Given the description of an element on the screen output the (x, y) to click on. 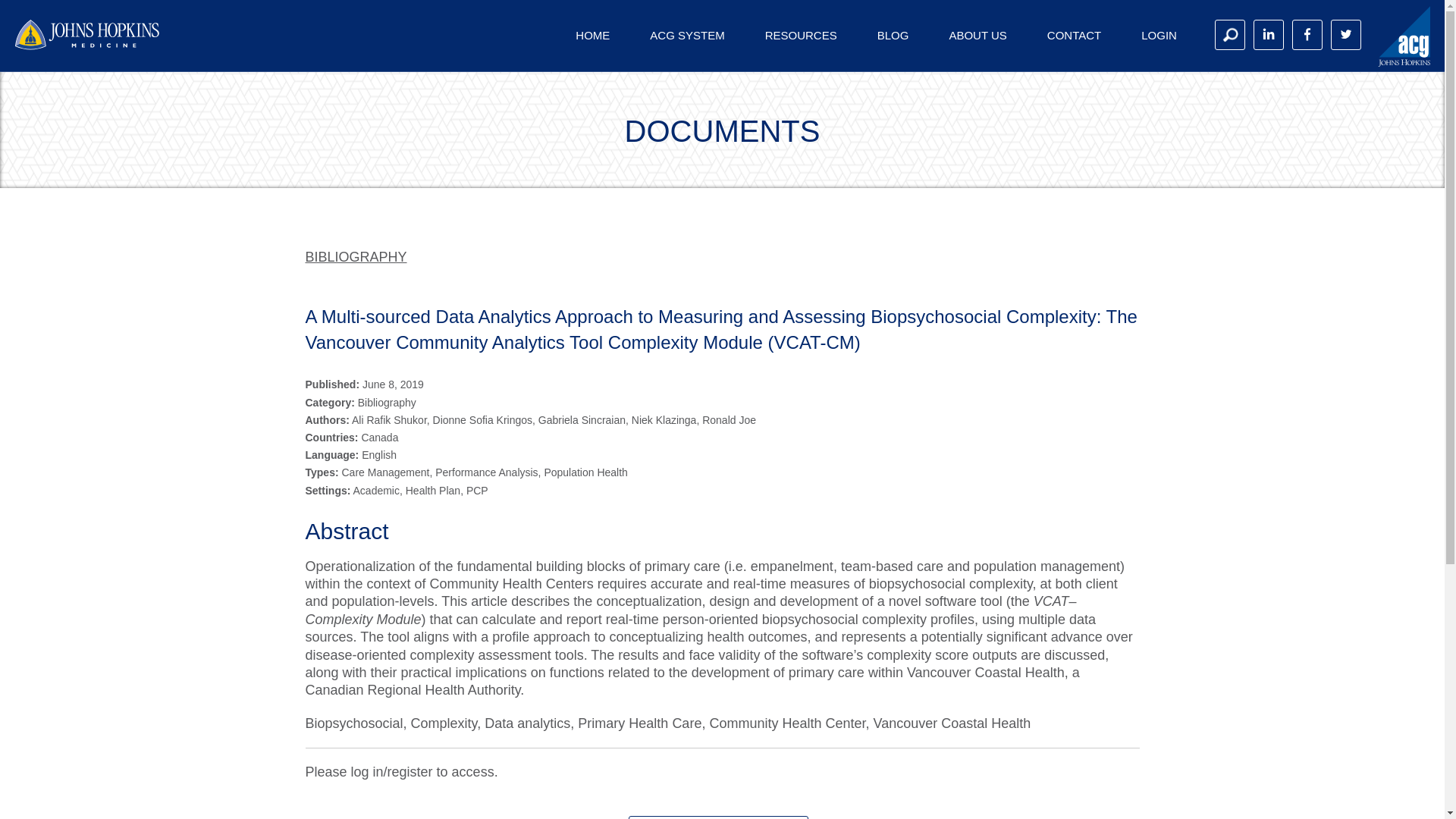
BLOG (893, 35)
ACG SYSTEM (686, 35)
HOME (592, 35)
CONTACT (1074, 35)
ABOUT US (977, 35)
RESOURCES (801, 35)
LOGIN (1158, 35)
